Given the description of an element on the screen output the (x, y) to click on. 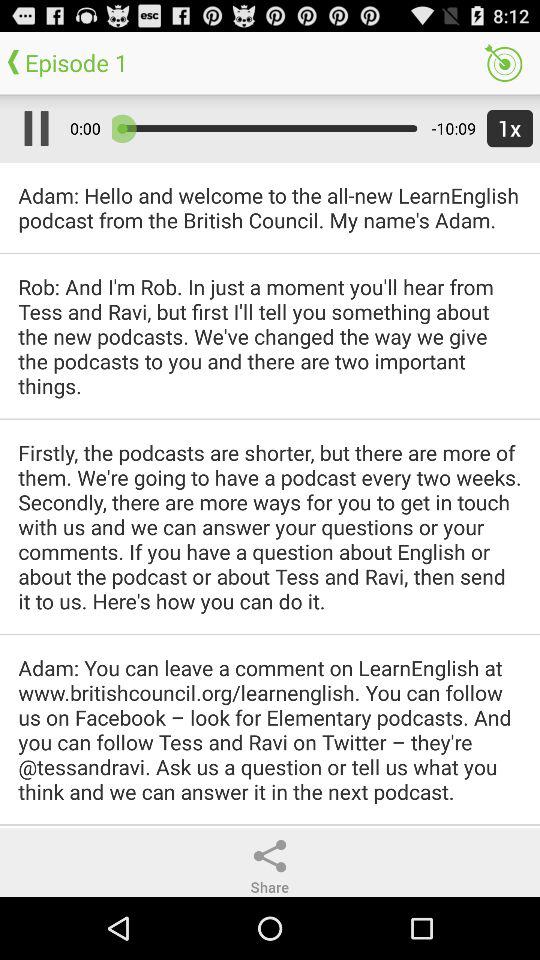
tap the item above the adam hello and app (506, 128)
